Given the description of an element on the screen output the (x, y) to click on. 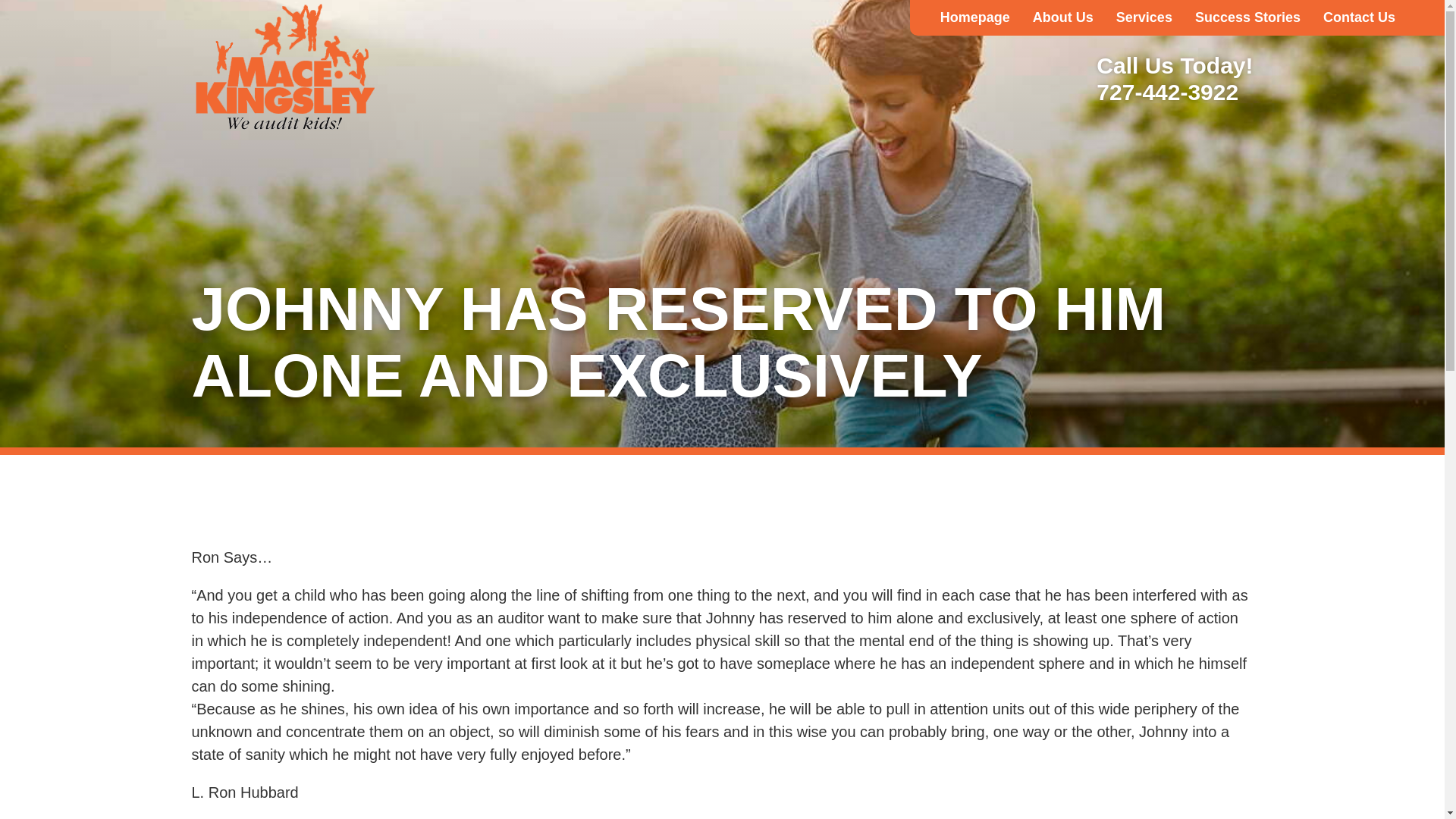
Services (1144, 18)
727-442-3922 (1174, 91)
Homepage (975, 18)
Contact Us (1358, 18)
About Us (1063, 18)
Success Stories (1247, 18)
